Given the description of an element on the screen output the (x, y) to click on. 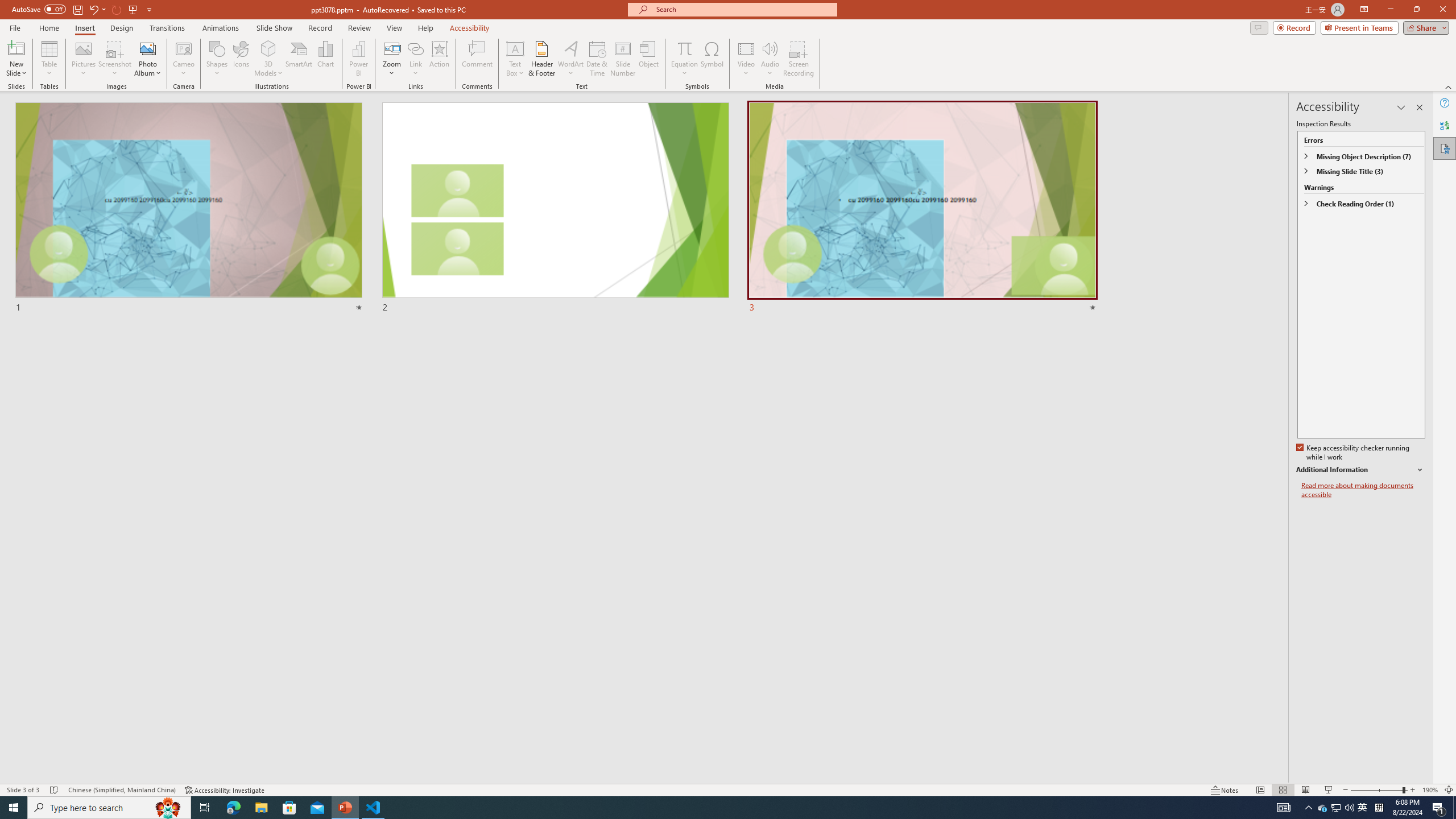
Microsoft search (742, 9)
Shapes (216, 58)
Draw Horizontal Text Box (515, 48)
Power BI (358, 58)
Screenshot (114, 58)
